Given the description of an element on the screen output the (x, y) to click on. 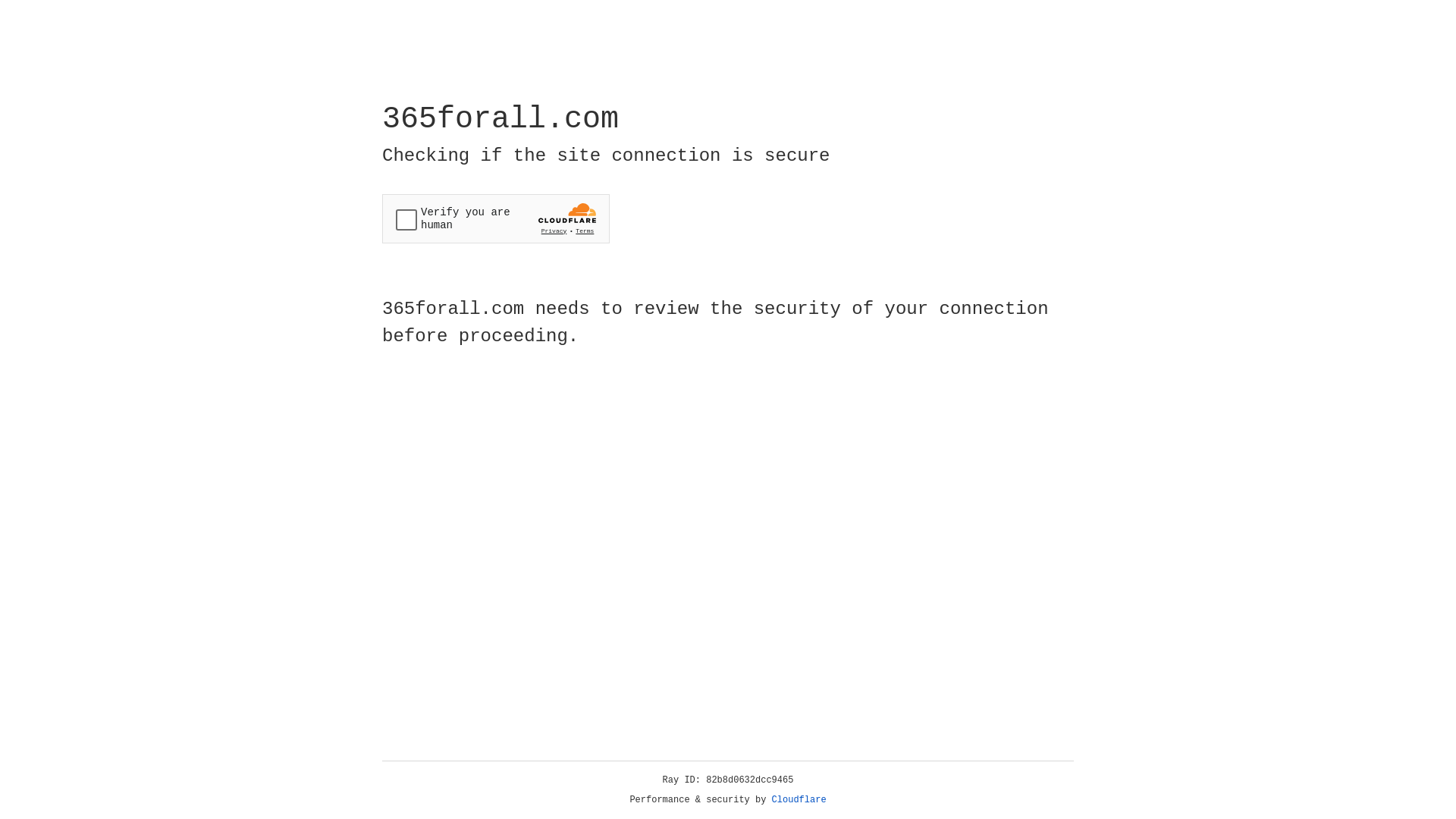
Widget containing a Cloudflare security challenge Element type: hover (495, 218)
Cloudflare Element type: text (798, 799)
